Given the description of an element on the screen output the (x, y) to click on. 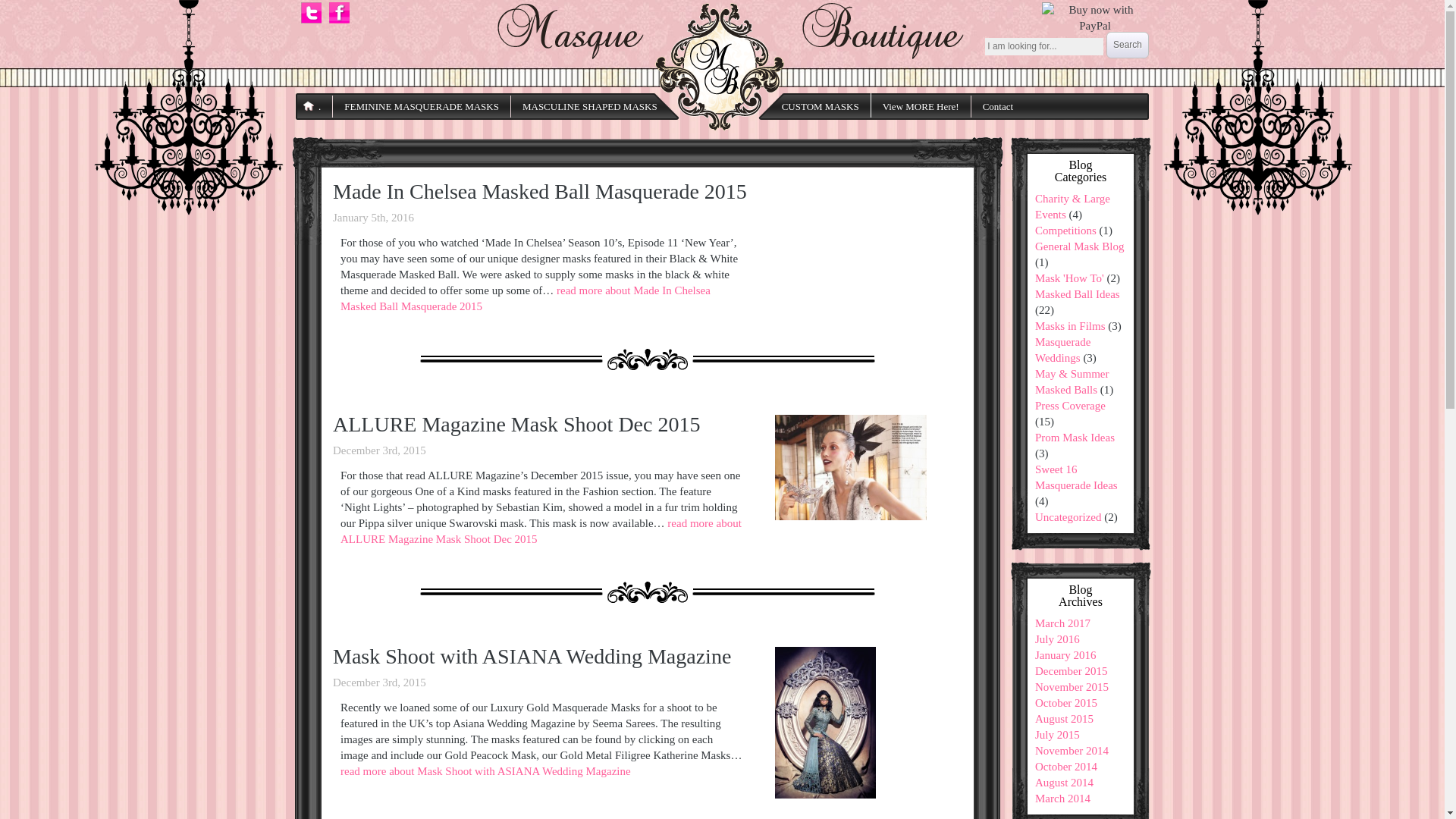
. (314, 106)
Search (1127, 44)
FEMININE MASQUERADE MASKS (422, 106)
